Given the description of an element on the screen output the (x, y) to click on. 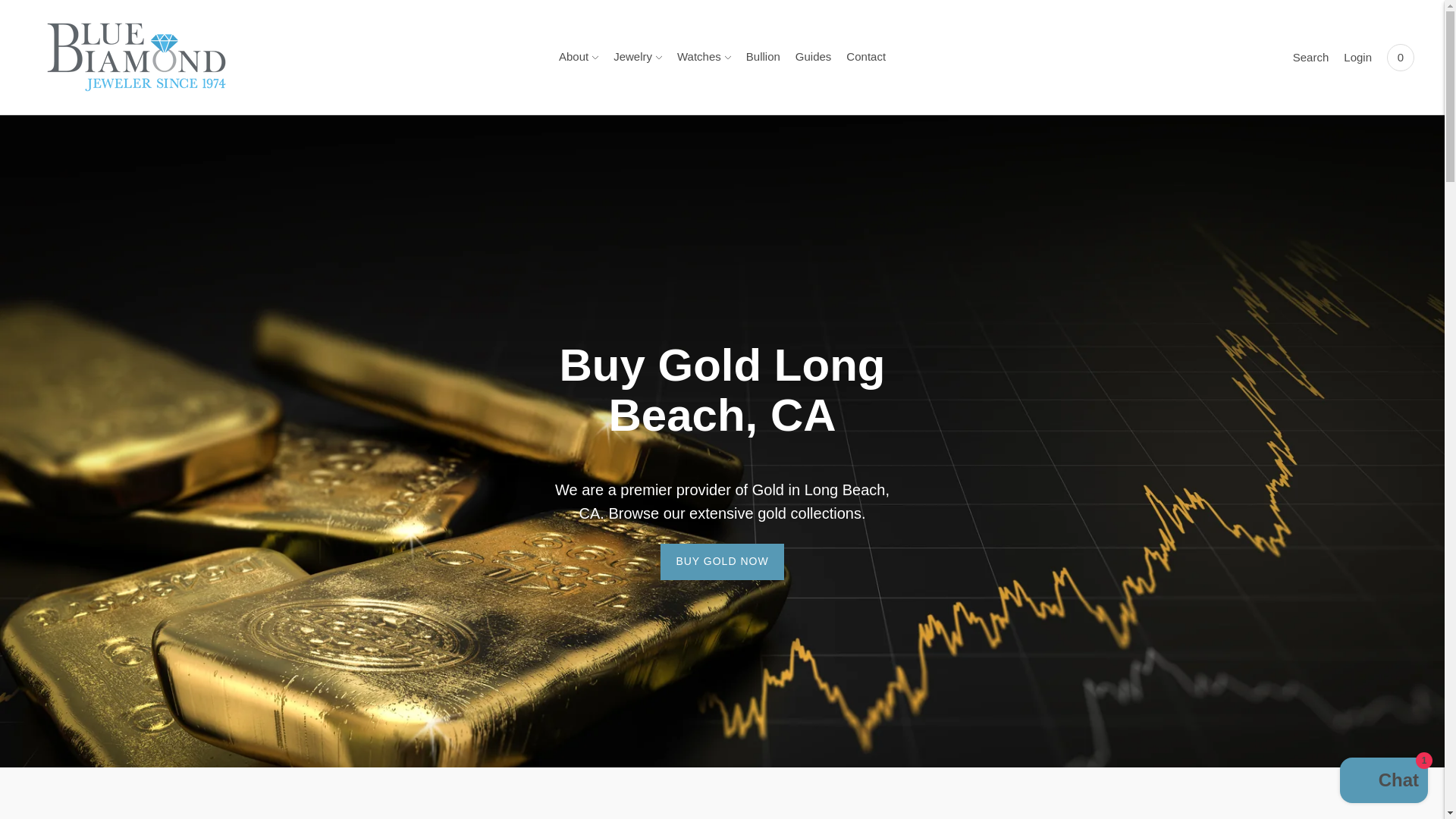
About (578, 57)
Shopify online store chat (1383, 781)
Jewelry (637, 57)
